Given the description of an element on the screen output the (x, y) to click on. 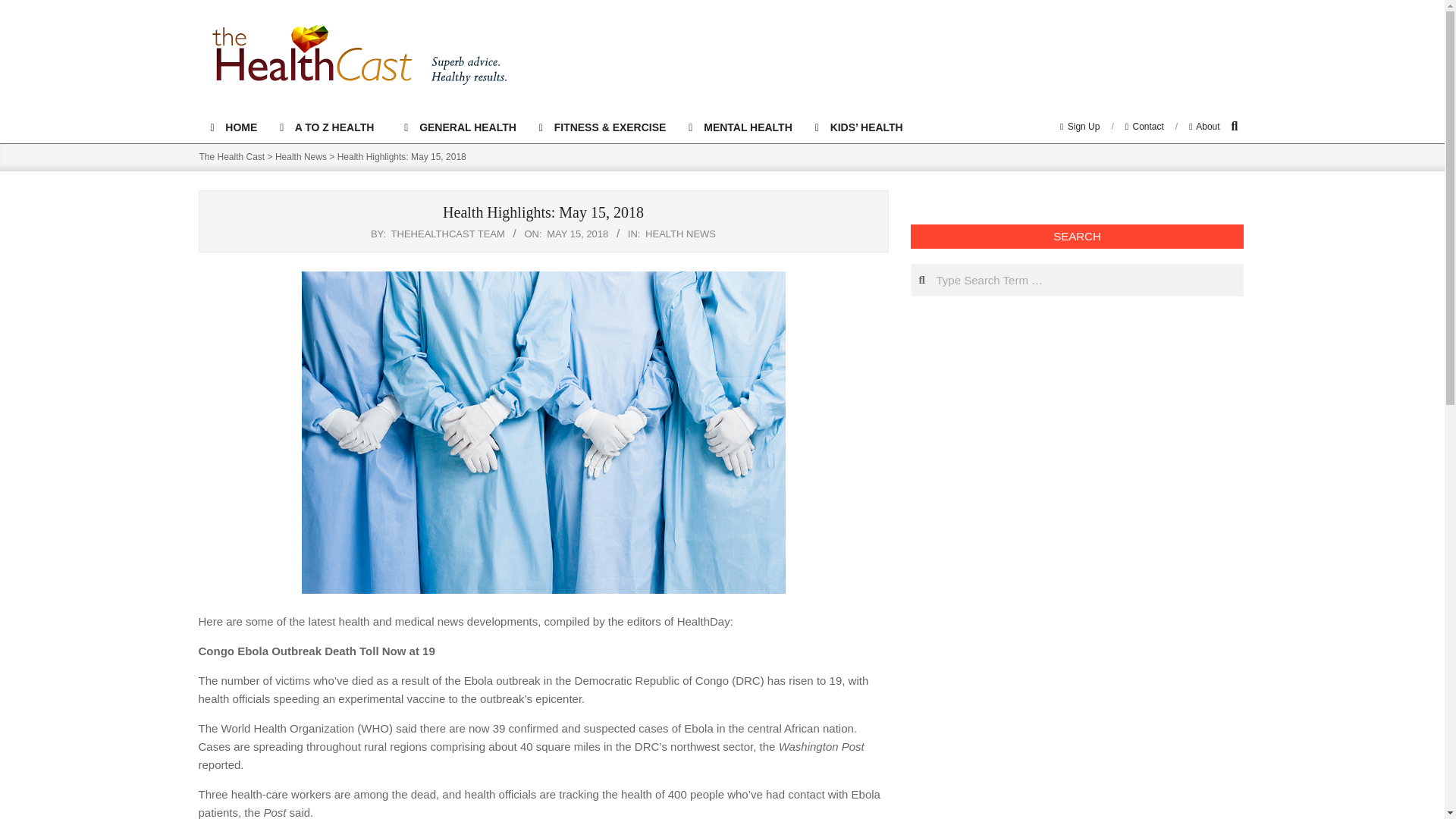
HOME (232, 127)
A TO Z HEALTH (330, 127)
Tuesday, May 15, 2018, 7:28 am (577, 233)
Posts by TheHealthCast Team (448, 233)
A TO Z HEALTH (330, 127)
